Given the description of an element on the screen output the (x, y) to click on. 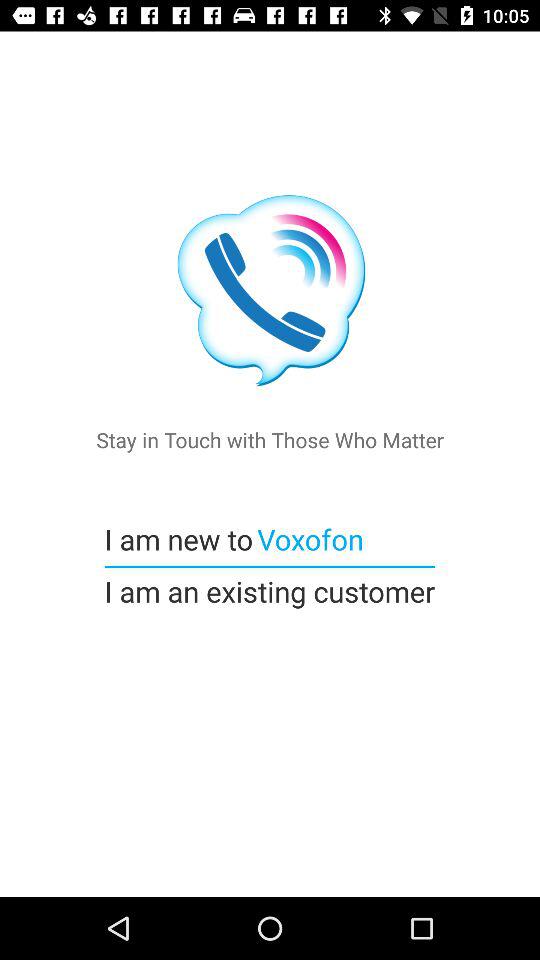
swipe until voxofon icon (308, 538)
